Given the description of an element on the screen output the (x, y) to click on. 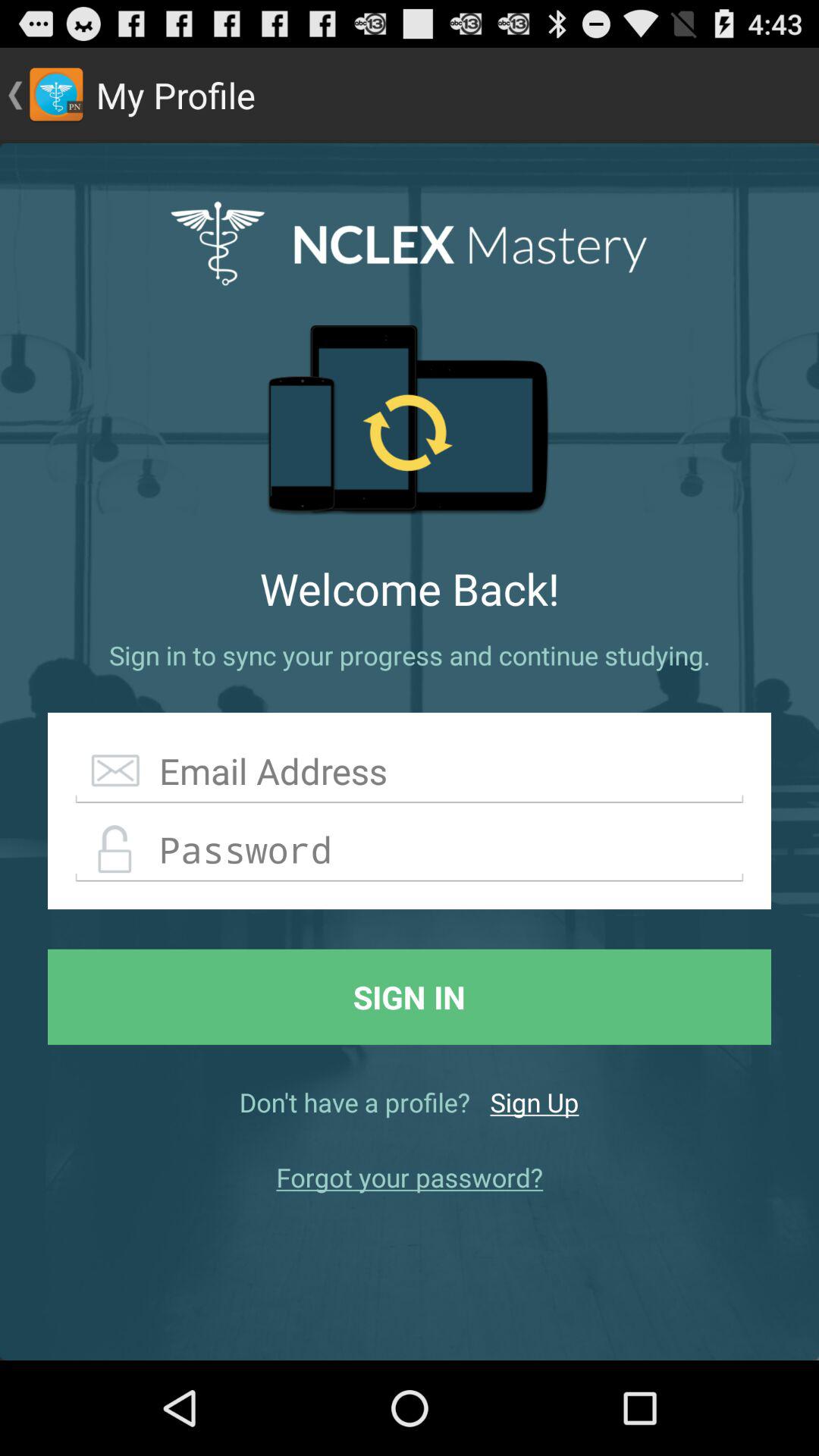
tap the icon below the sign in (534, 1101)
